Given the description of an element on the screen output the (x, y) to click on. 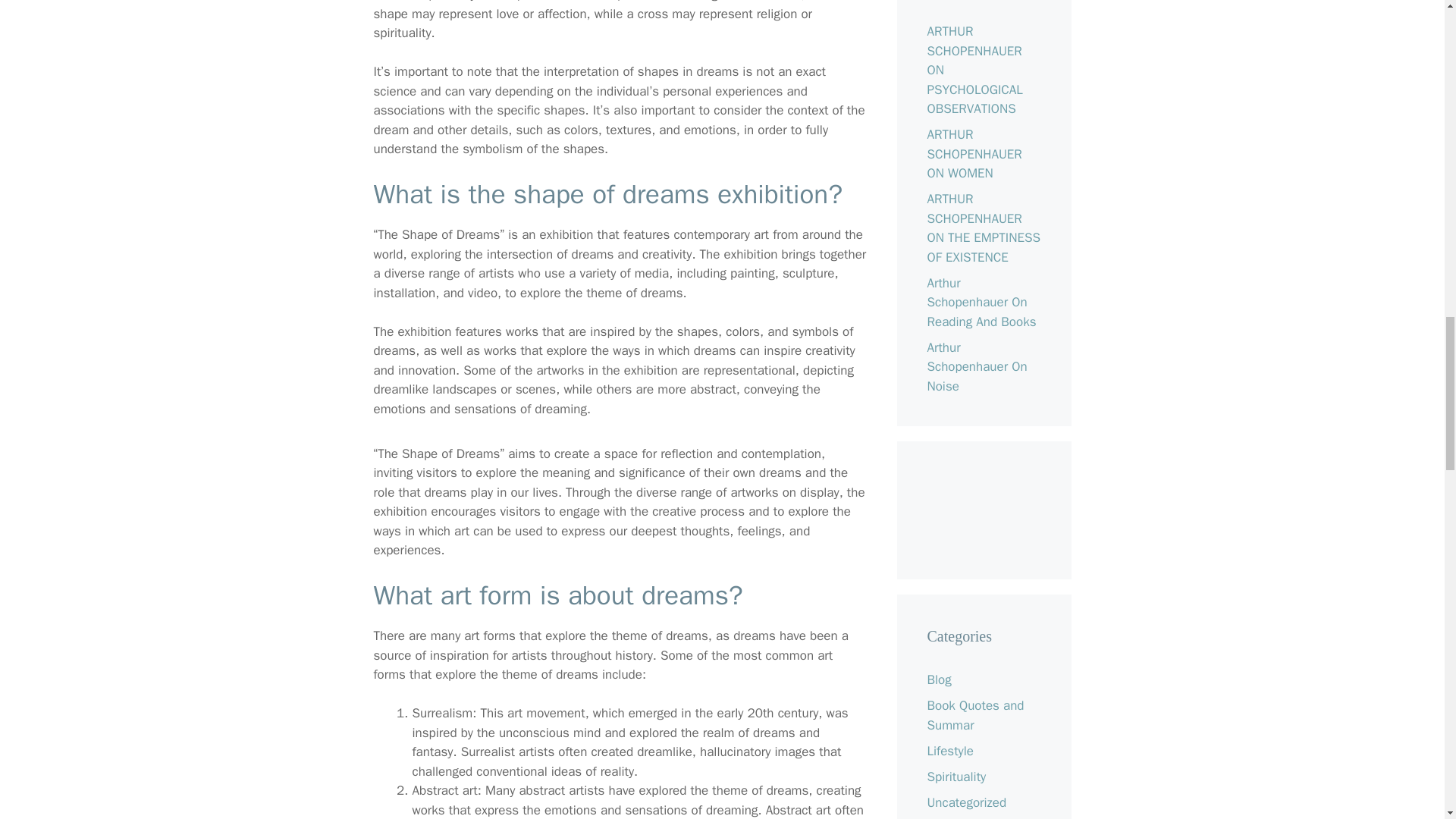
ARTHUR SCHOPENHAUER ON WOMEN (974, 153)
Spirituality (955, 776)
Blog (938, 679)
Lifestyle (949, 750)
Book Quotes and Summar (974, 715)
ARTHUR SCHOPENHAUER ON PSYCHOLOGICAL OBSERVATIONS (974, 70)
Arthur Schopenhauer On Reading And Books (980, 302)
ARTHUR SCHOPENHAUER ON THE EMPTINESS OF EXISTENCE (982, 227)
Arthur Schopenhauer On Noise (976, 366)
Uncategorized (966, 802)
